Given the description of an element on the screen output the (x, y) to click on. 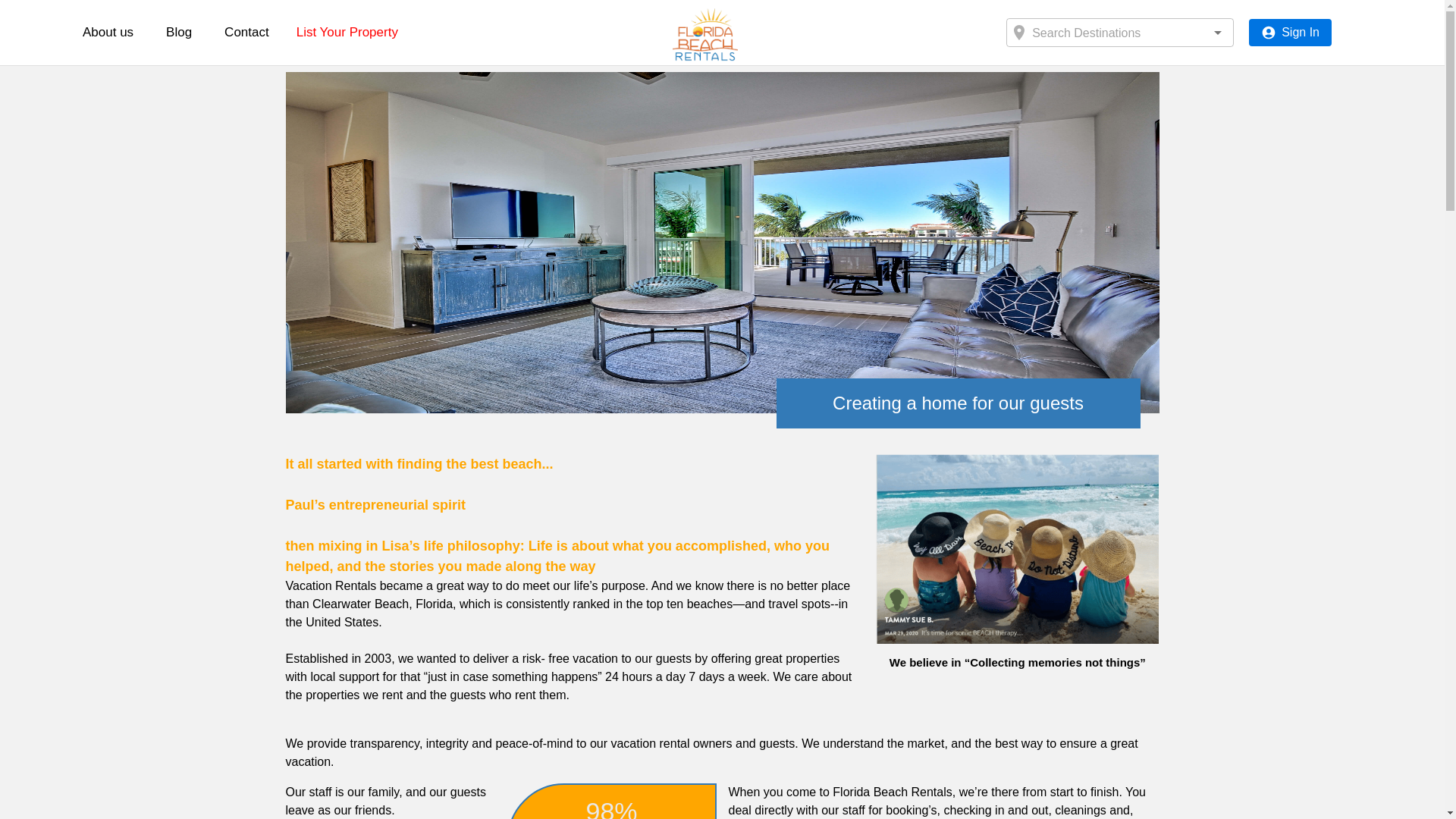
Sign In (1290, 31)
Blog (178, 32)
About us (108, 31)
Blog (178, 31)
Open (1217, 32)
Contact (246, 31)
List Your Property (346, 32)
About us (108, 32)
Contact (246, 32)
List Your Property (346, 31)
